Given the description of an element on the screen output the (x, y) to click on. 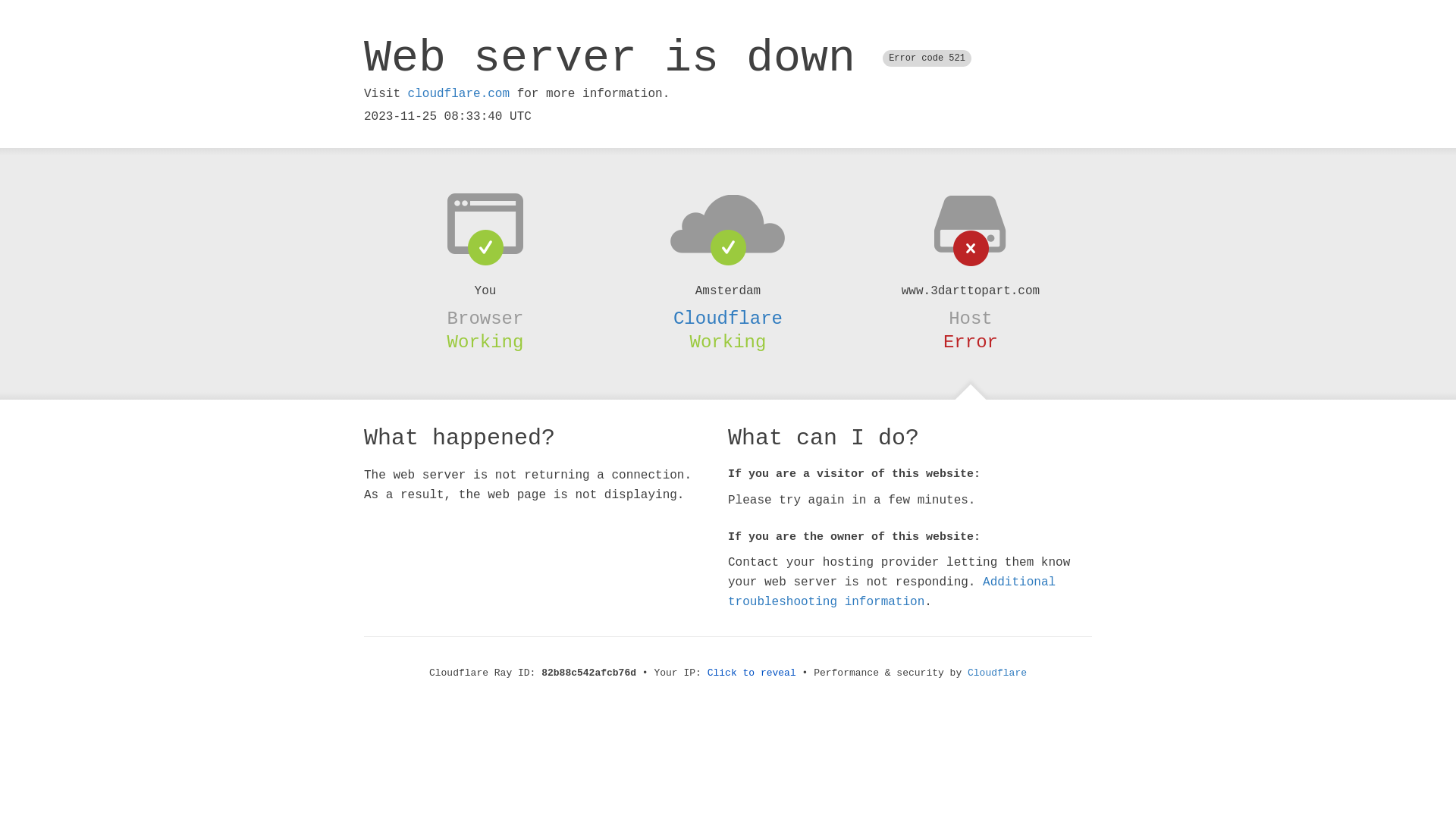
Additional troubleshooting information Element type: text (891, 591)
cloudflare.com Element type: text (458, 93)
Cloudflare Element type: text (727, 318)
Click to reveal Element type: text (751, 672)
Cloudflare Element type: text (996, 672)
